Given the description of an element on the screen output the (x, y) to click on. 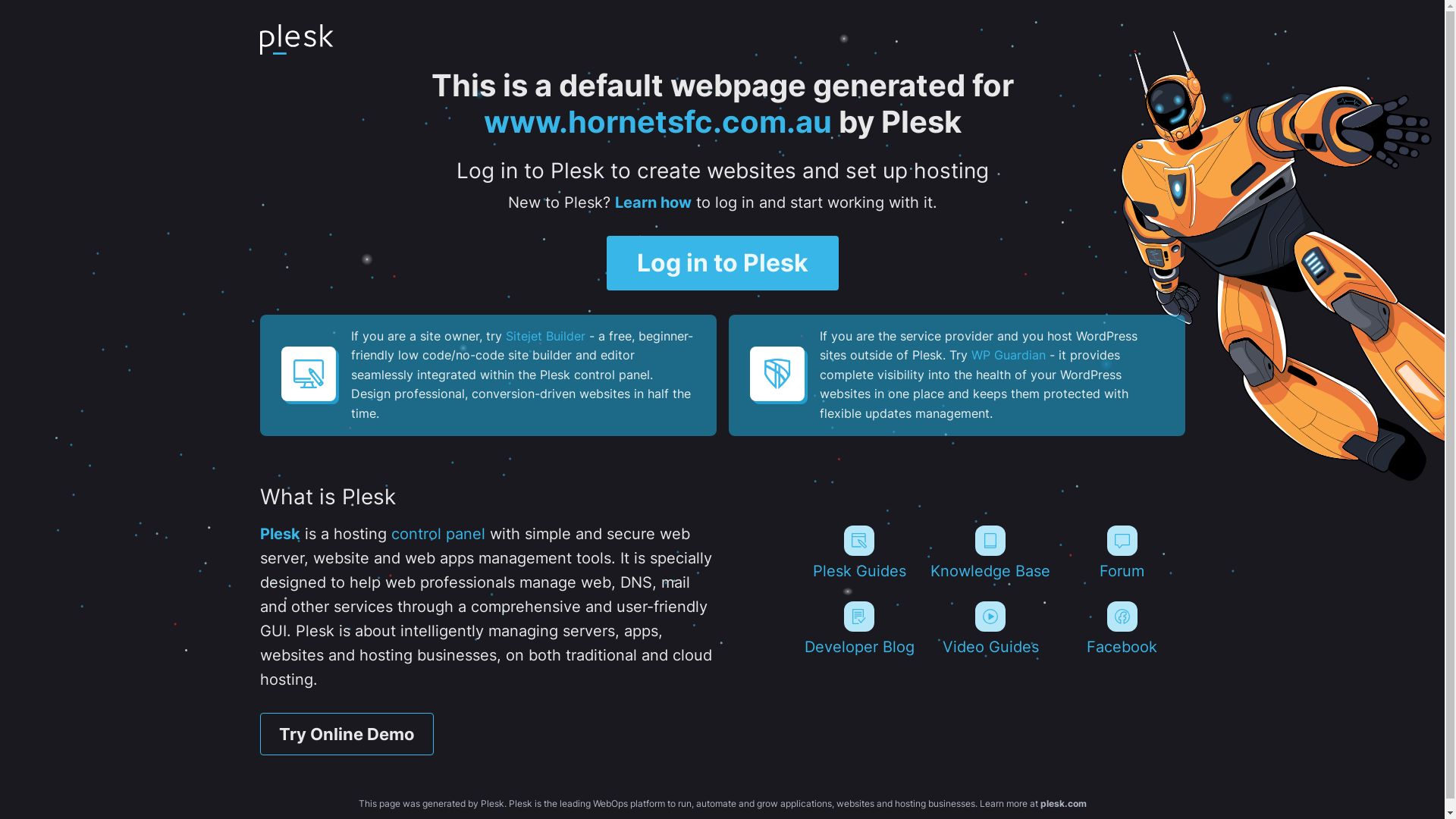
Plesk Element type: text (279, 533)
Sitejet Builder Element type: text (544, 335)
www.hornetsfc.com.au Element type: text (657, 121)
control panel Element type: text (438, 533)
Log in to Plesk Element type: text (722, 262)
Facebook Element type: text (1121, 628)
Video Guides Element type: text (990, 628)
Knowledge Base Element type: text (990, 552)
Forum Element type: text (1121, 552)
Learn how Element type: text (652, 202)
Plesk Guides Element type: text (858, 552)
Developer Blog Element type: text (858, 628)
Try Online Demo Element type: text (346, 733)
WP Guardian Element type: text (1007, 354)
plesk.com Element type: text (1063, 803)
